Given the description of an element on the screen output the (x, y) to click on. 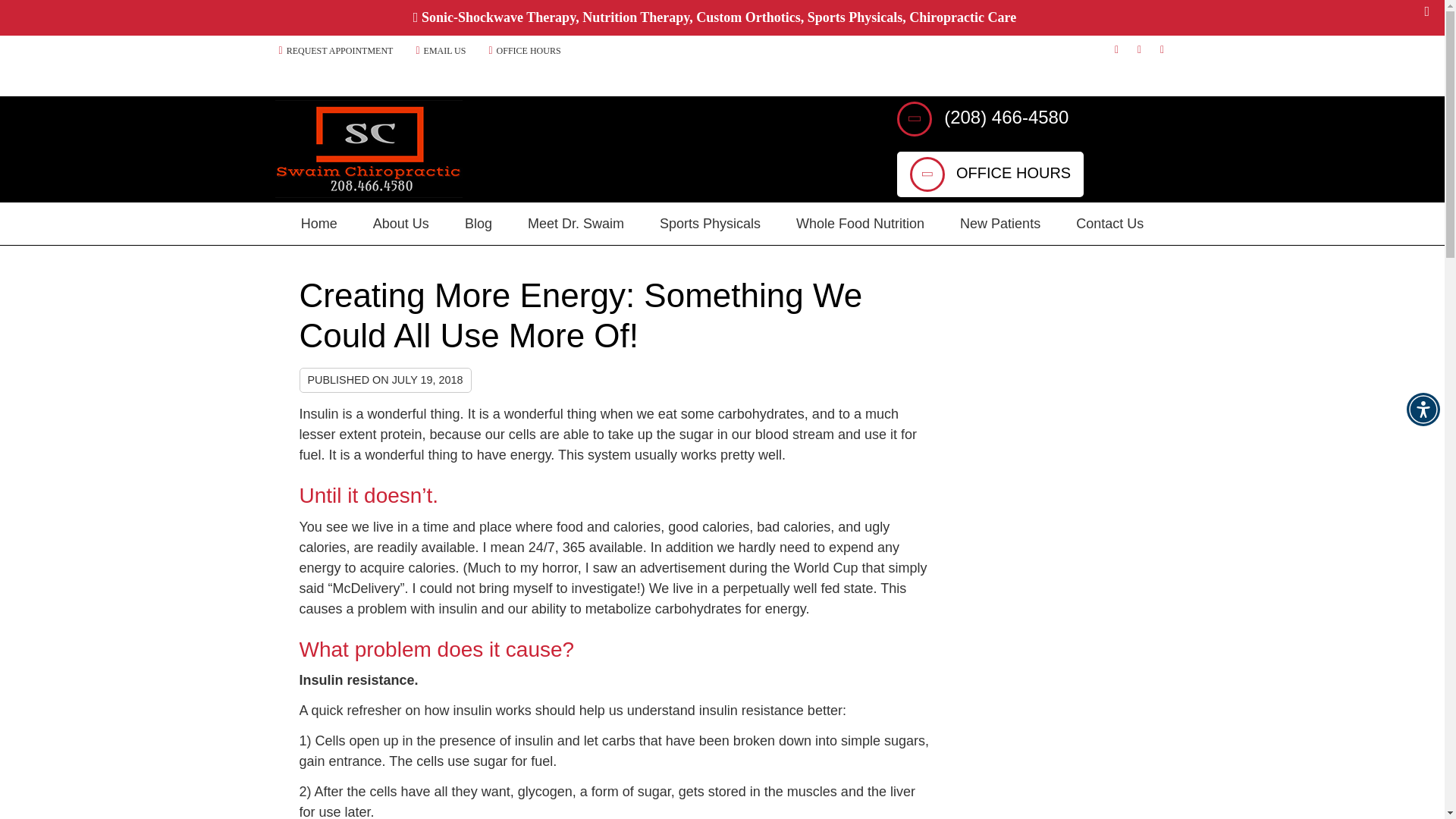
Instagram Social Button (1161, 50)
Whole Food Nutrition (860, 223)
Meet Dr. Swaim (576, 223)
About Us (400, 223)
Welcome to Swaim Chiropractic (368, 192)
Home (319, 223)
Blog (478, 223)
Contact (440, 49)
Swaim Chiropractic (368, 192)
Google Social Button (1138, 50)
